Given the description of an element on the screen output the (x, y) to click on. 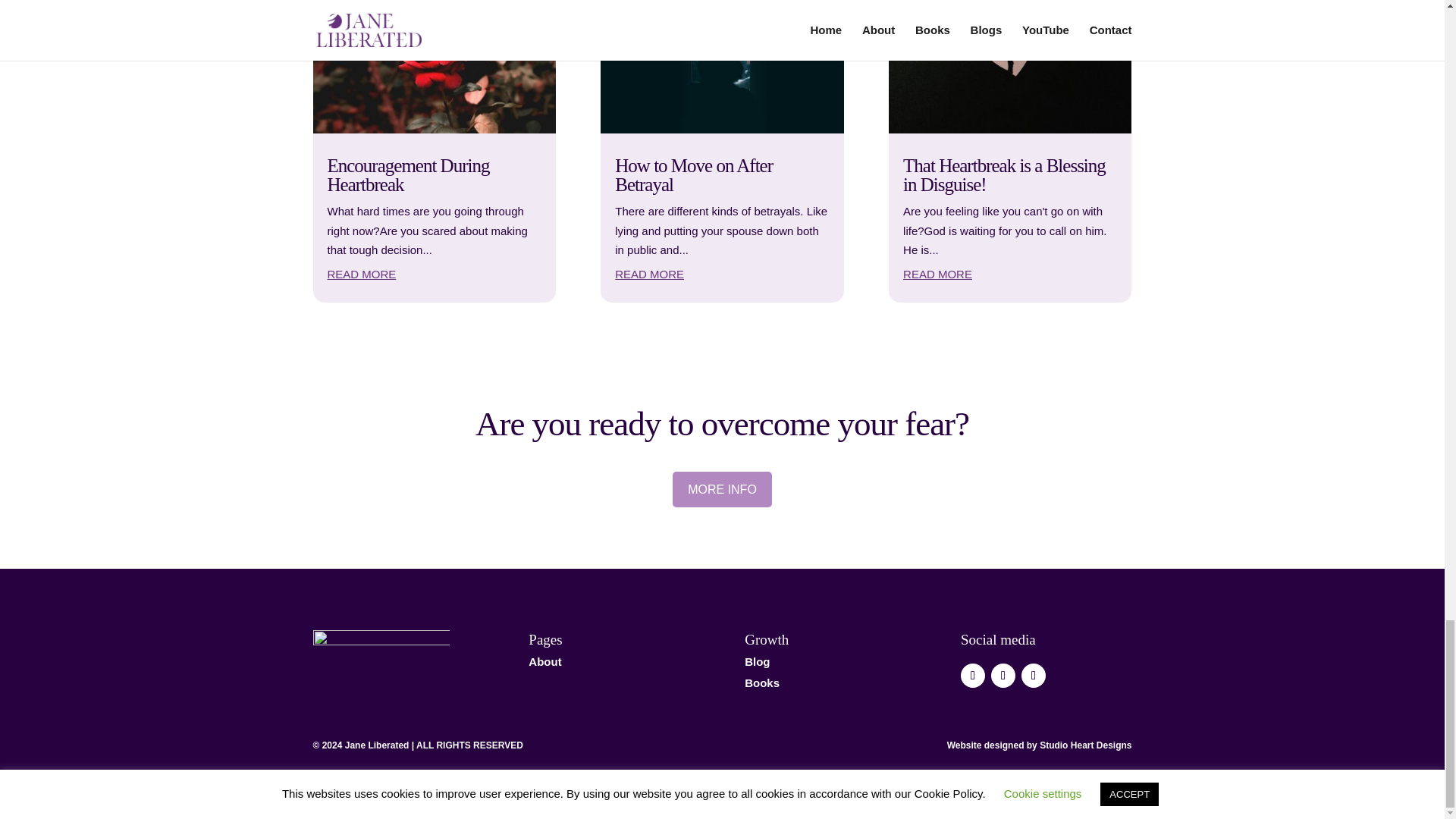
READ MORE (937, 273)
logo jl white (380, 650)
That Heartbreak is a Blessing in Disguise! (1003, 174)
Follow on Youtube (972, 675)
MORE INFO (721, 488)
Follow on Instagram (1002, 675)
READ MORE (361, 273)
How to Move on After Betrayal (693, 174)
Encouragement During Heartbreak (408, 174)
READ MORE (649, 273)
